Given the description of an element on the screen output the (x, y) to click on. 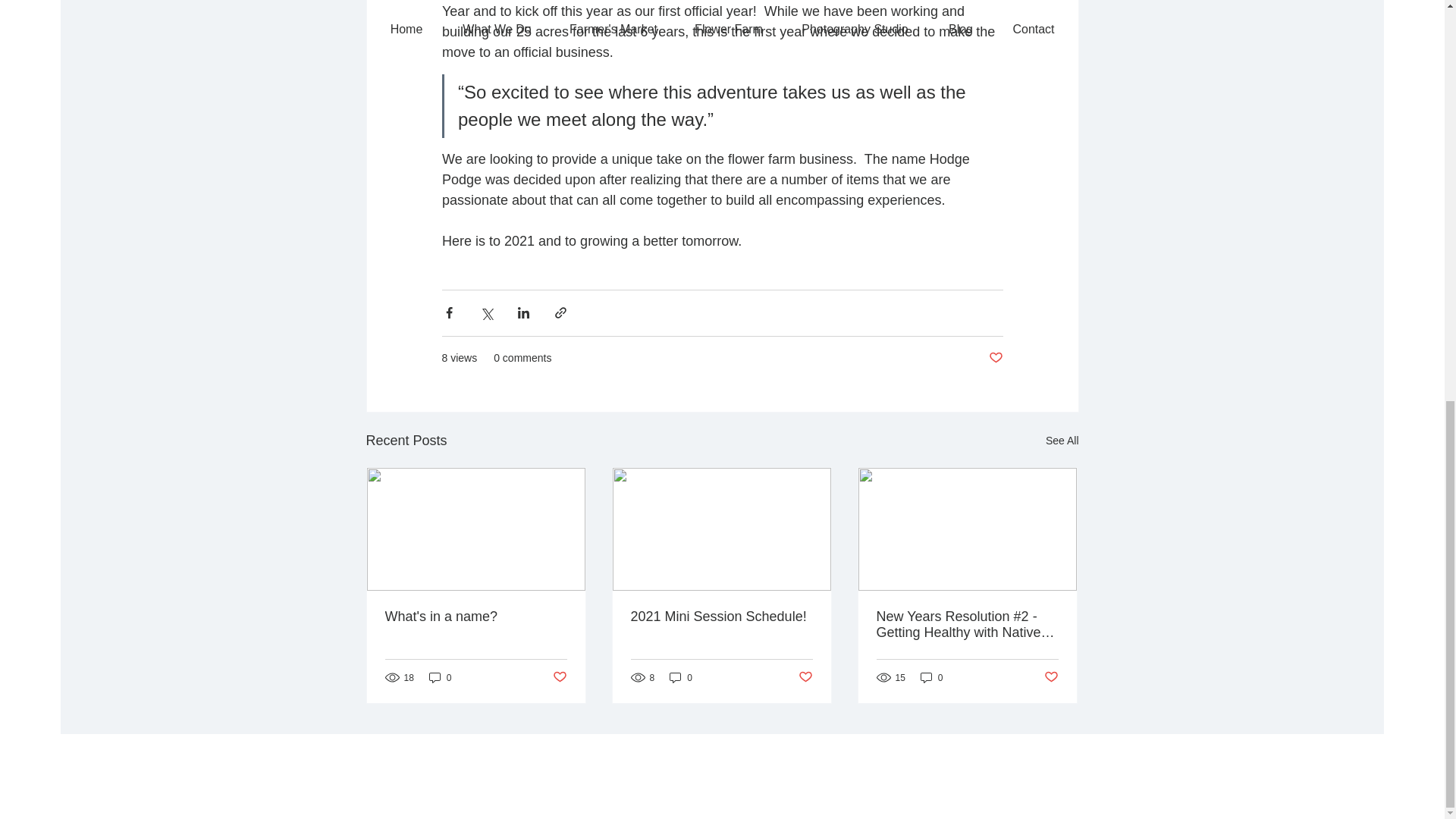
Post not marked as liked (995, 358)
Post not marked as liked (558, 677)
Post not marked as liked (804, 677)
2021 Mini Session Schedule! (721, 616)
See All (1061, 440)
0 (440, 677)
0 (931, 677)
Post not marked as liked (1050, 677)
0 (681, 677)
What's in a name? (476, 616)
